Given the description of an element on the screen output the (x, y) to click on. 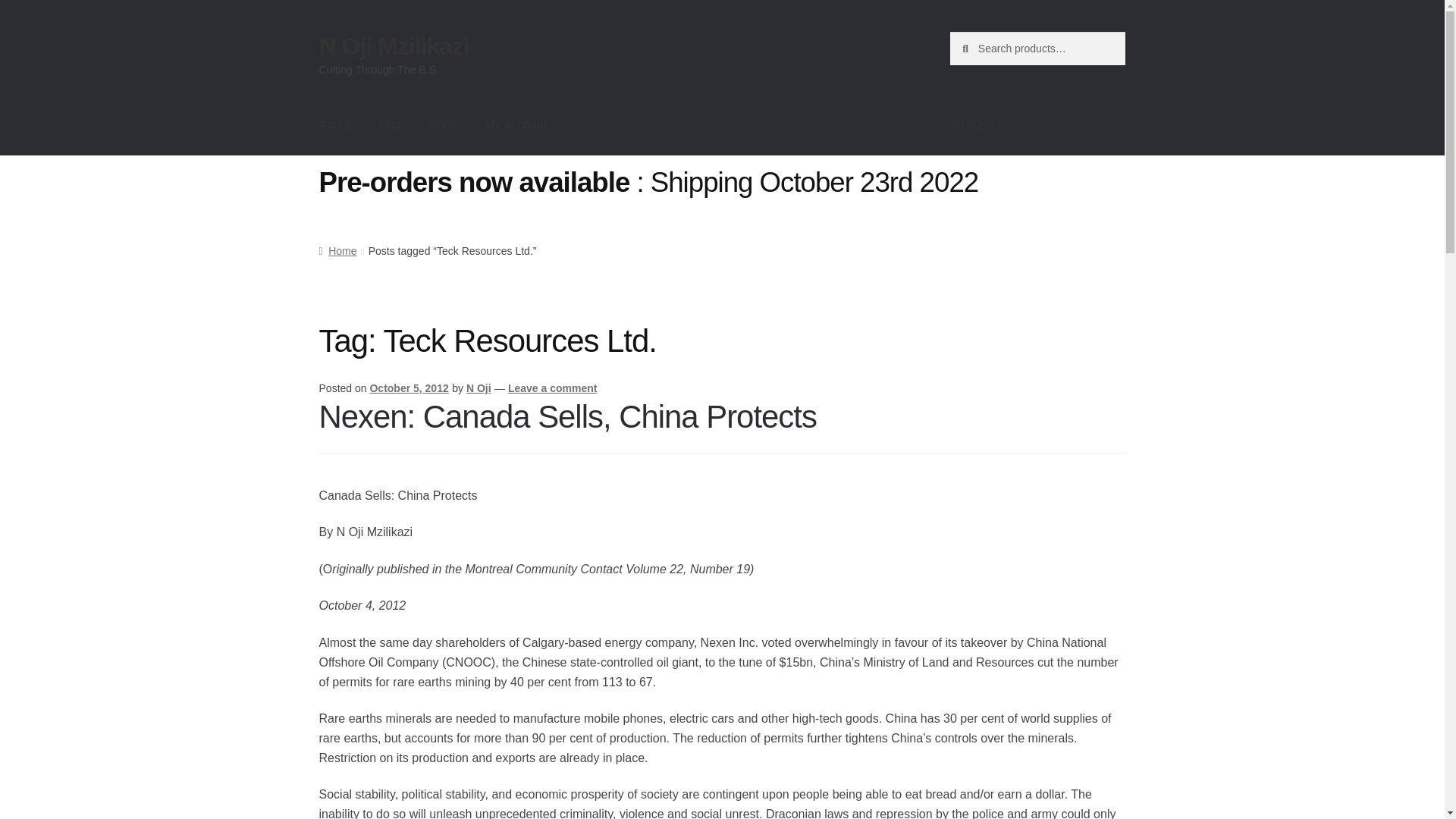
N Oji (478, 387)
N Oji Mzilikazi (393, 45)
My account (523, 124)
Nexen: Canada Sells, China Protects (567, 416)
Leave a comment (552, 387)
October 5, 2012 (408, 387)
View your shopping cart (1037, 124)
Home (337, 250)
